Given the description of an element on the screen output the (x, y) to click on. 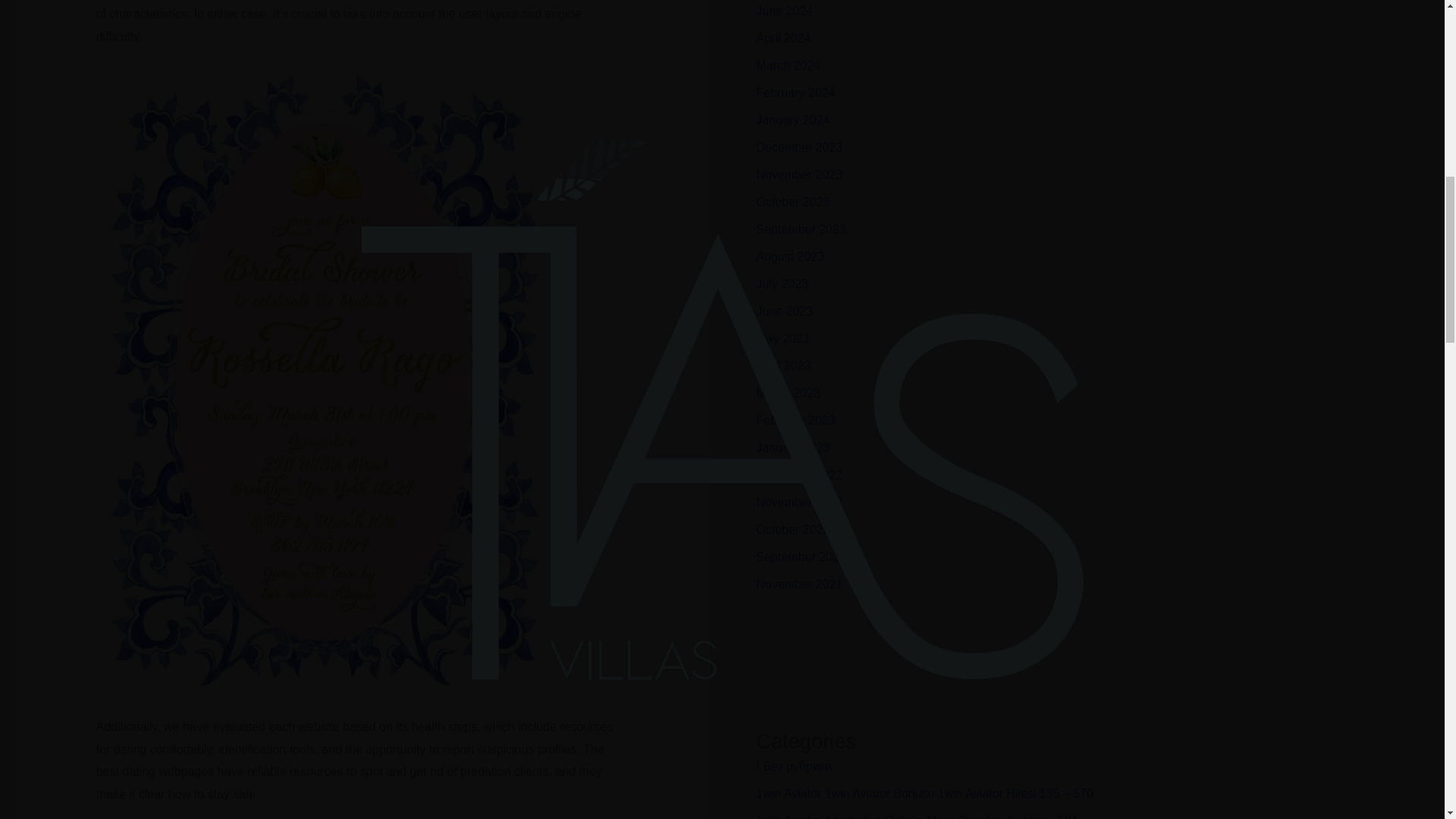
June 2023 (783, 310)
February 2024 (794, 92)
August 2023 (789, 256)
October 2023 (792, 201)
December 2022 (799, 474)
July 2023 (781, 283)
March 2024 (788, 65)
April 2024 (782, 38)
November 2023 (799, 174)
April 2023 (782, 365)
January 2023 (792, 447)
December 2023 (799, 146)
June 2024 (783, 10)
March 2023 (788, 392)
May 2023 (782, 338)
